Given the description of an element on the screen output the (x, y) to click on. 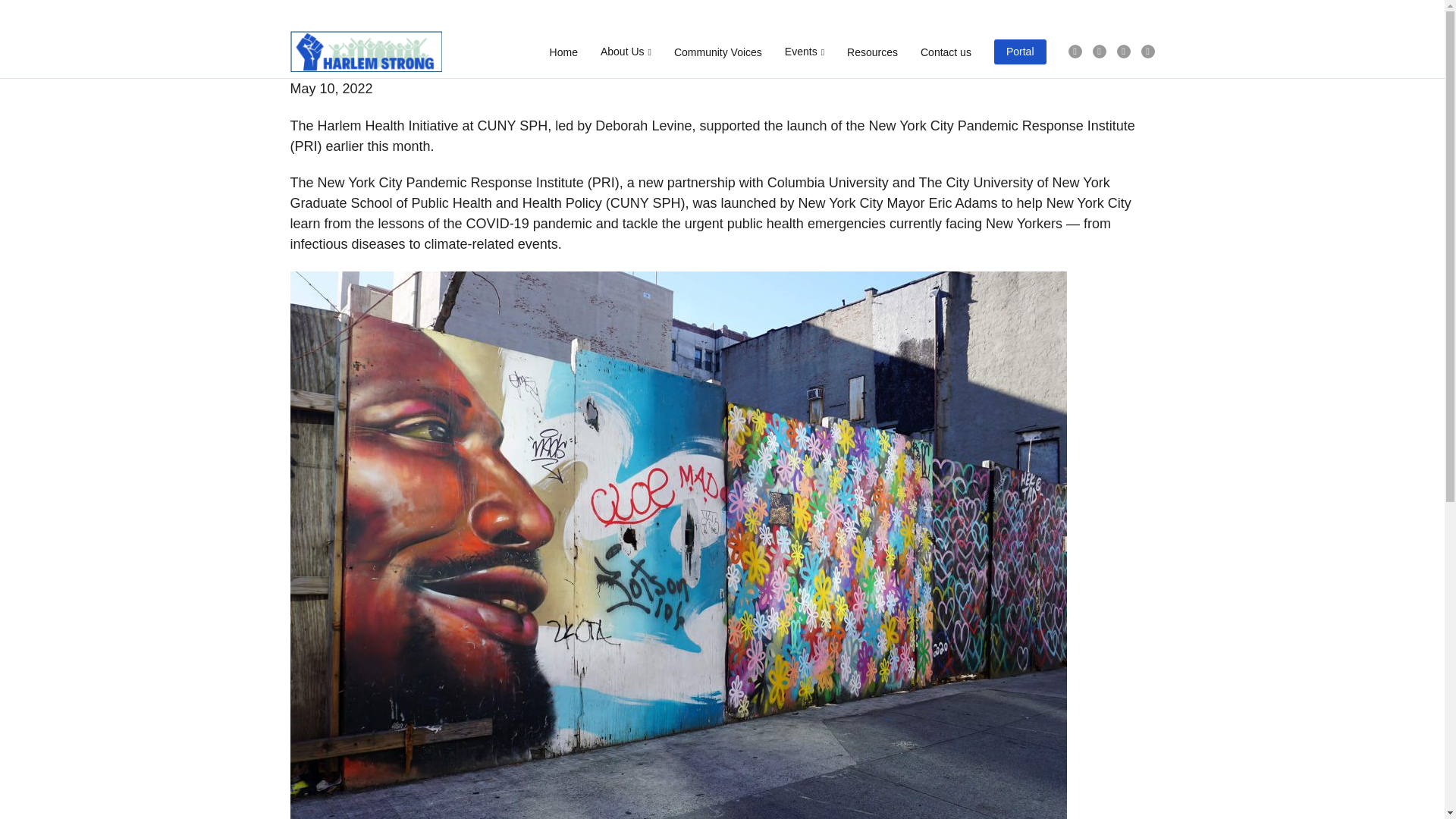
Community Voices (717, 51)
About Us (624, 51)
Resources (872, 51)
instagram (1122, 51)
Events (804, 51)
facebook (1074, 51)
Home (564, 51)
twitter (1098, 51)
Contact us (945, 51)
Portal (1020, 51)
linkedin (1147, 51)
